Given the description of an element on the screen output the (x, y) to click on. 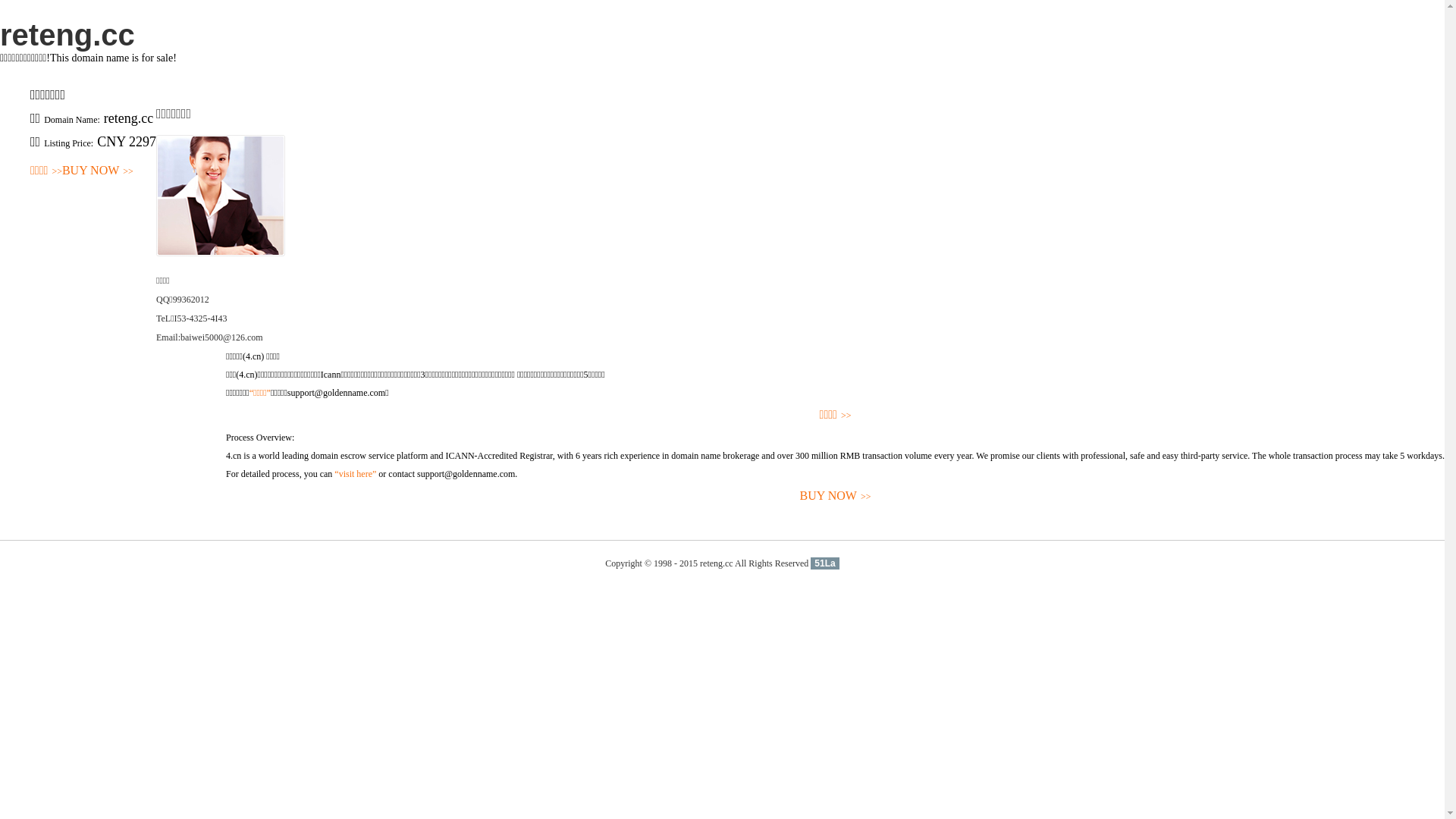
BUY NOW>> Element type: text (834, 496)
BUY NOW>> Element type: text (97, 170)
51La Element type: text (824, 563)
